Given the description of an element on the screen output the (x, y) to click on. 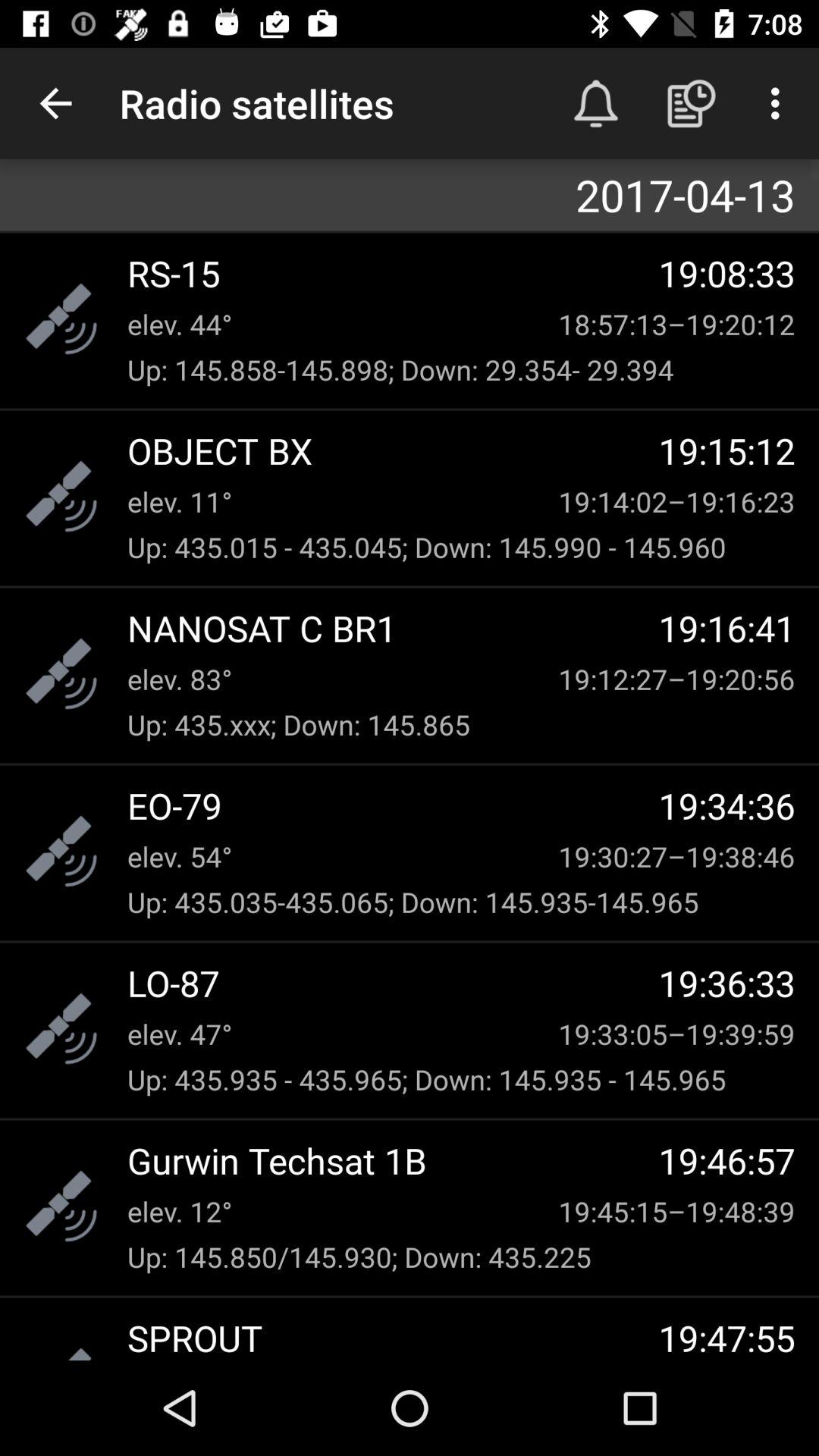
click item below up 435 035 item (392, 982)
